Given the description of an element on the screen output the (x, y) to click on. 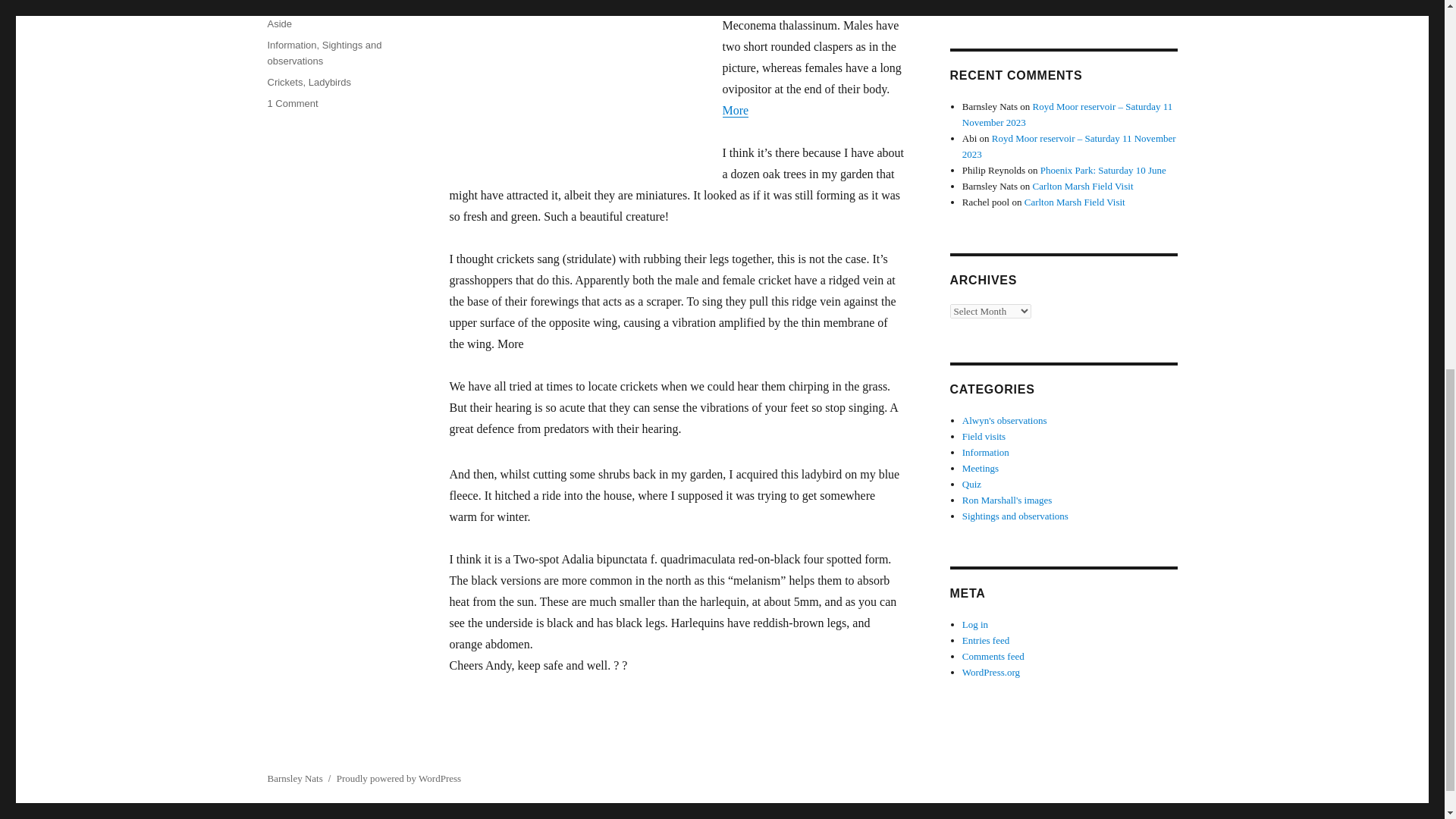
Alwyn's observations (1004, 419)
Information (290, 44)
Phoenix Park: Saturday 10 June (1103, 170)
Information (985, 451)
Quiz (971, 483)
Sightings and observations (323, 52)
Ron Marshall's images (1007, 500)
Field visits (984, 436)
More (735, 110)
Carlton Marsh Field Visit (1075, 202)
Ladybirds (329, 81)
Carlton Marsh Field Visit (1083, 185)
